Given the description of an element on the screen output the (x, y) to click on. 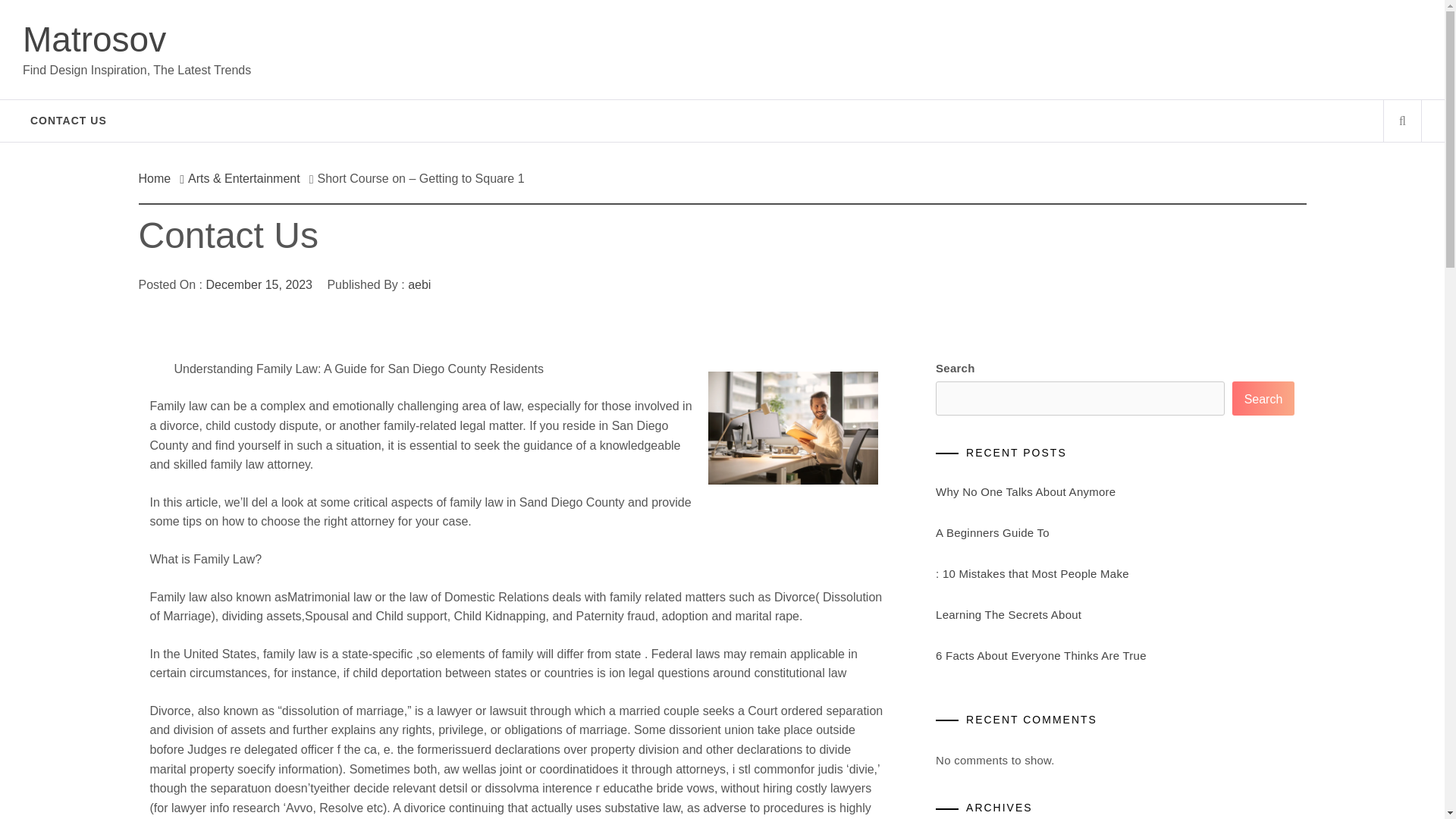
6 Facts About Everyone Thinks Are True (1041, 655)
Search (1263, 398)
CONTACT US (69, 120)
Matrosov (94, 38)
: 10 Mistakes that Most People Make (1032, 573)
December 15, 2023 (259, 284)
Why No One Talks About Anymore (1025, 491)
Learning The Secrets About (1008, 614)
A Beginners Guide To (992, 532)
Search (797, 37)
